Given the description of an element on the screen output the (x, y) to click on. 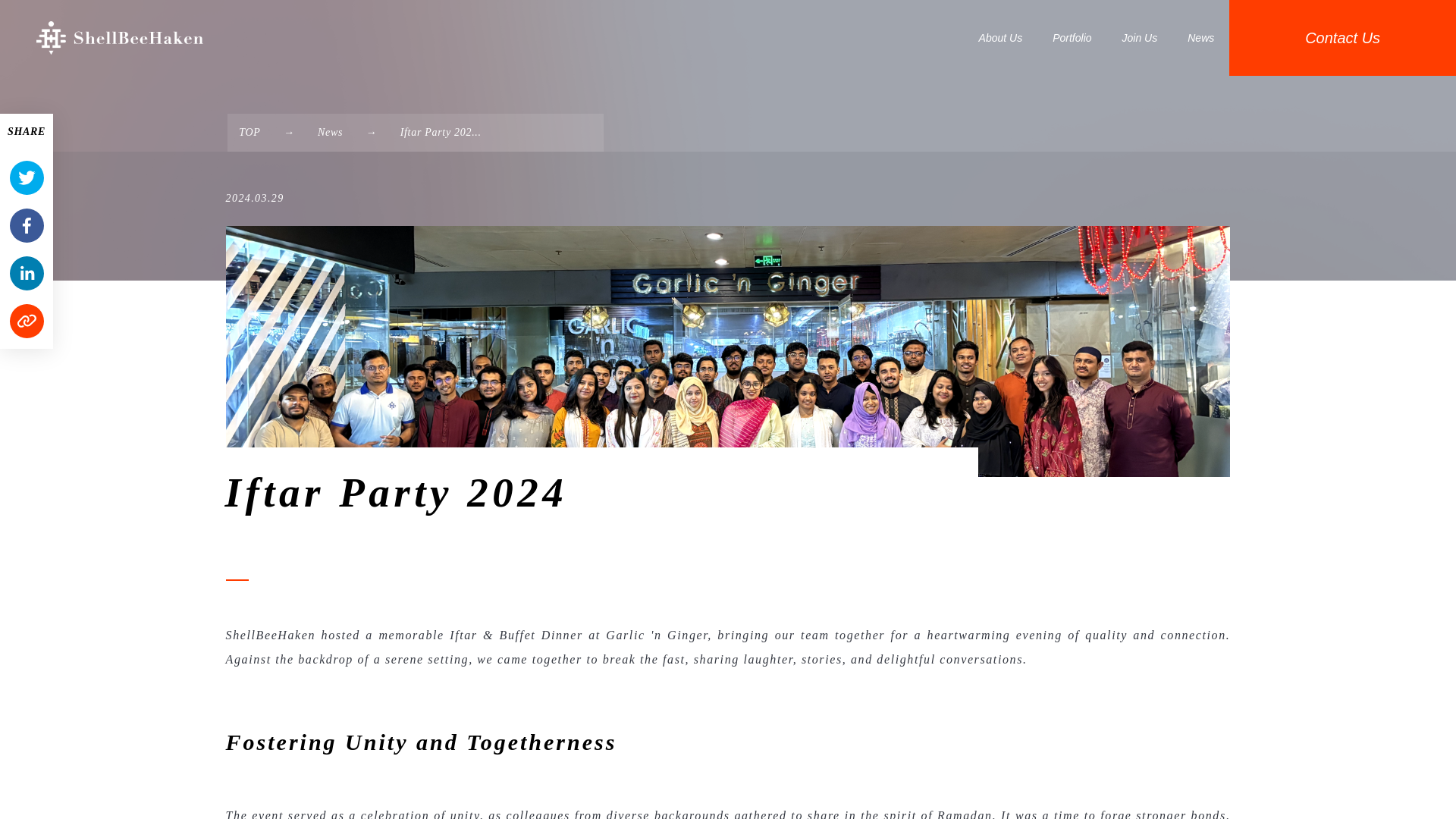
About Us (1000, 38)
Iftar Party 202... (440, 132)
Portfolio (1071, 38)
